Given the description of an element on the screen output the (x, y) to click on. 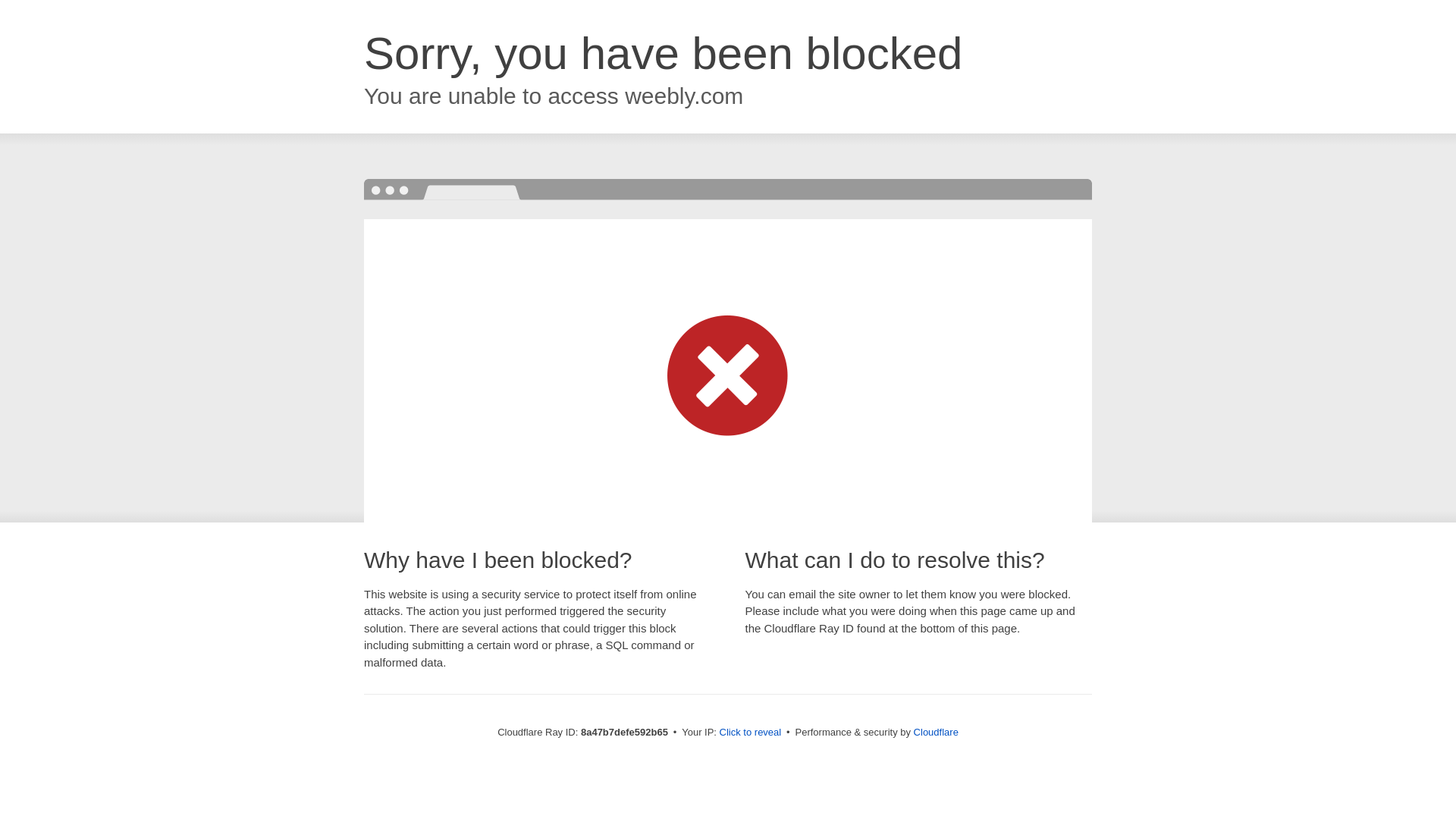
Cloudflare (936, 731)
Click to reveal (750, 732)
